Given the description of an element on the screen output the (x, y) to click on. 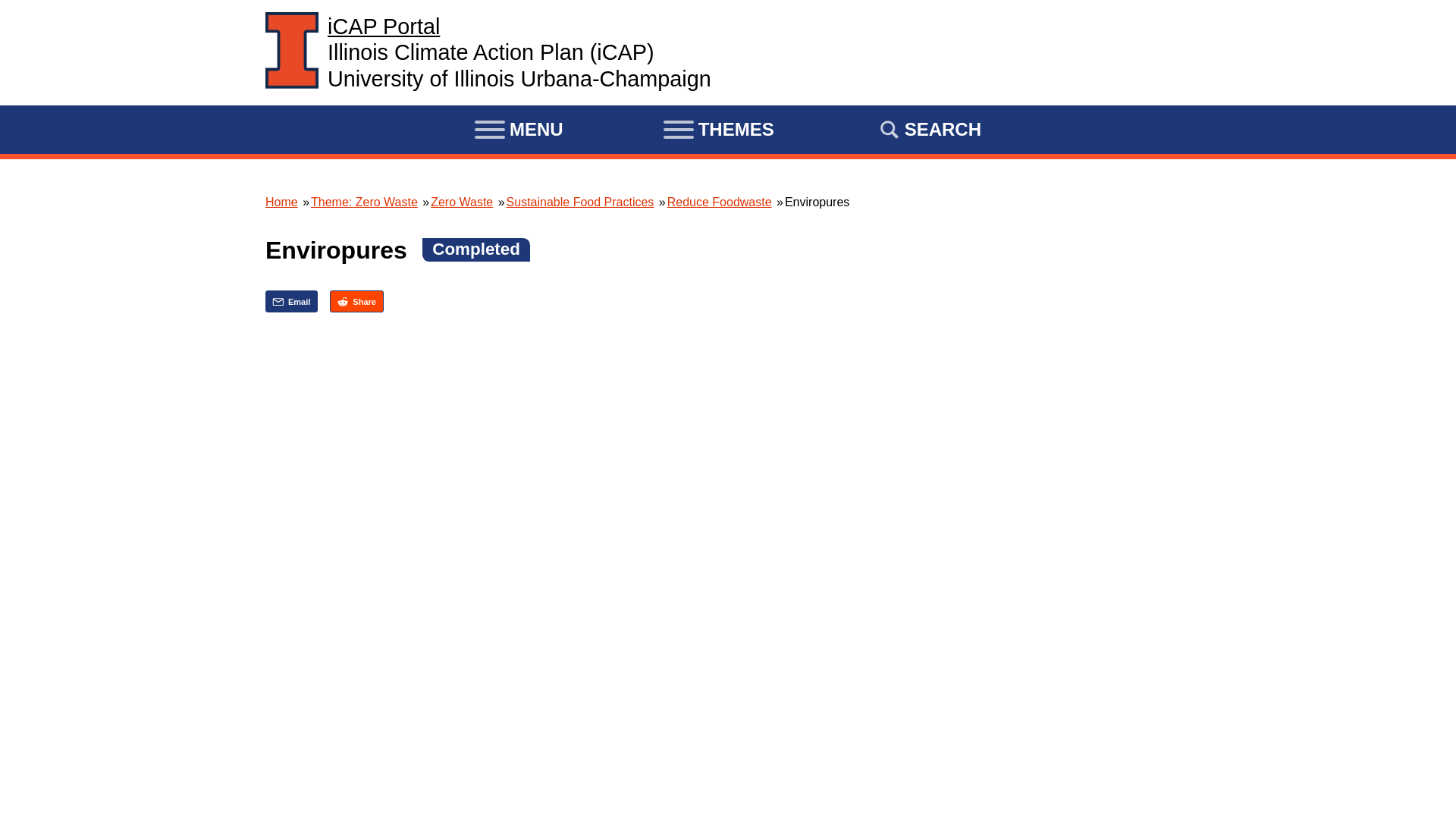
Theme: Zero Waste (364, 201)
Home (281, 201)
Zero Waste (461, 201)
Share (357, 301)
iCAP Portal (383, 26)
Email (290, 301)
Home (383, 26)
Sustainable Food Practices (579, 201)
Home (291, 52)
Reduce Foodwaste (718, 201)
